Given the description of an element on the screen output the (x, y) to click on. 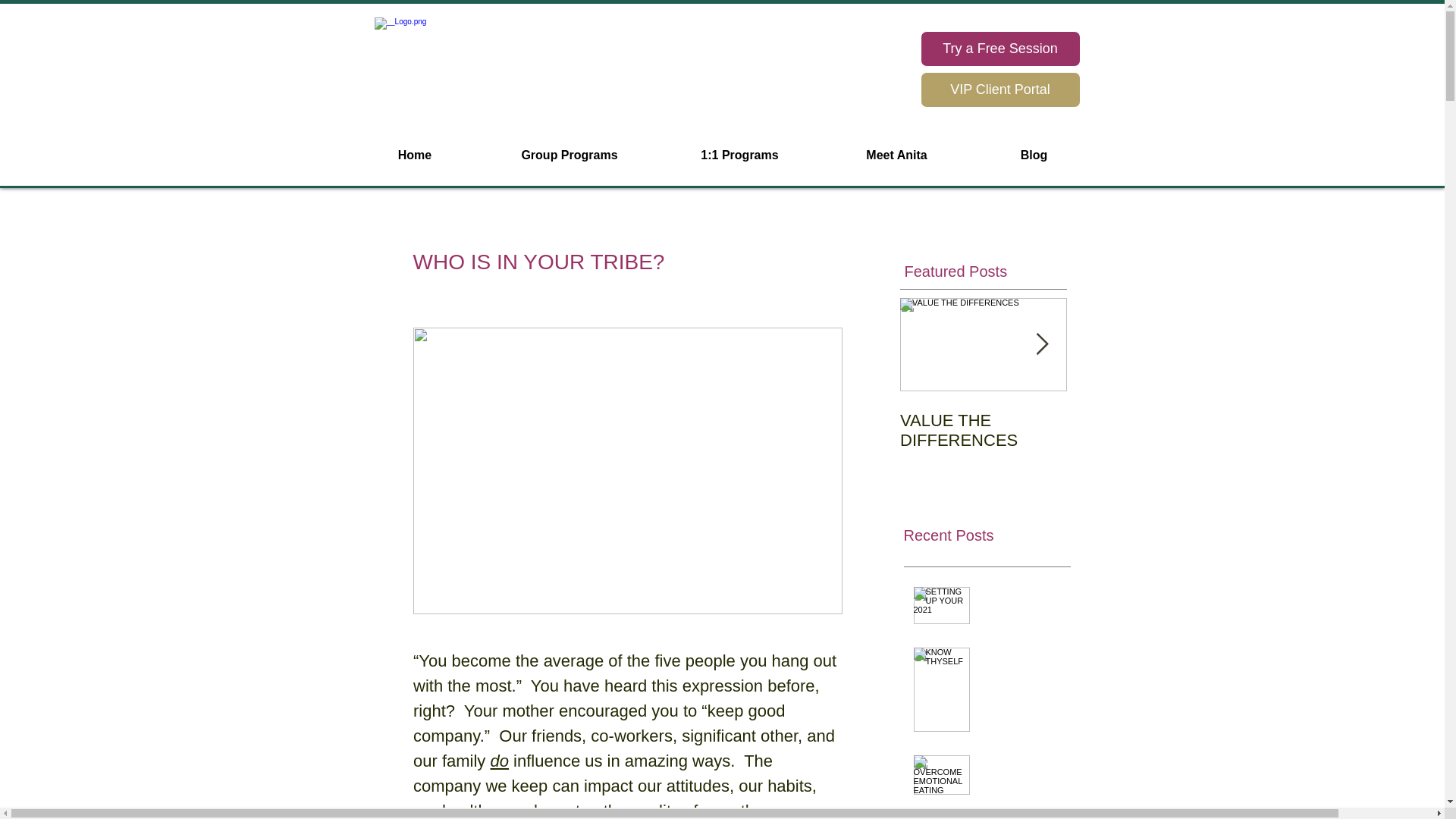
1:1 Programs (738, 155)
Group Programs (570, 155)
OVERCOME EMOTIONAL EATING (1020, 786)
Try a Free Session (1000, 48)
10 REASONS TO RID CLUTTER FROM YOUR LIFE! (1149, 440)
Meet Anita (896, 155)
A SEASON OF BLESSING (1020, 818)
Home (414, 155)
KNOW THYSELF (1020, 673)
SETTING UP YOUR 2021 (1020, 623)
